Given the description of an element on the screen output the (x, y) to click on. 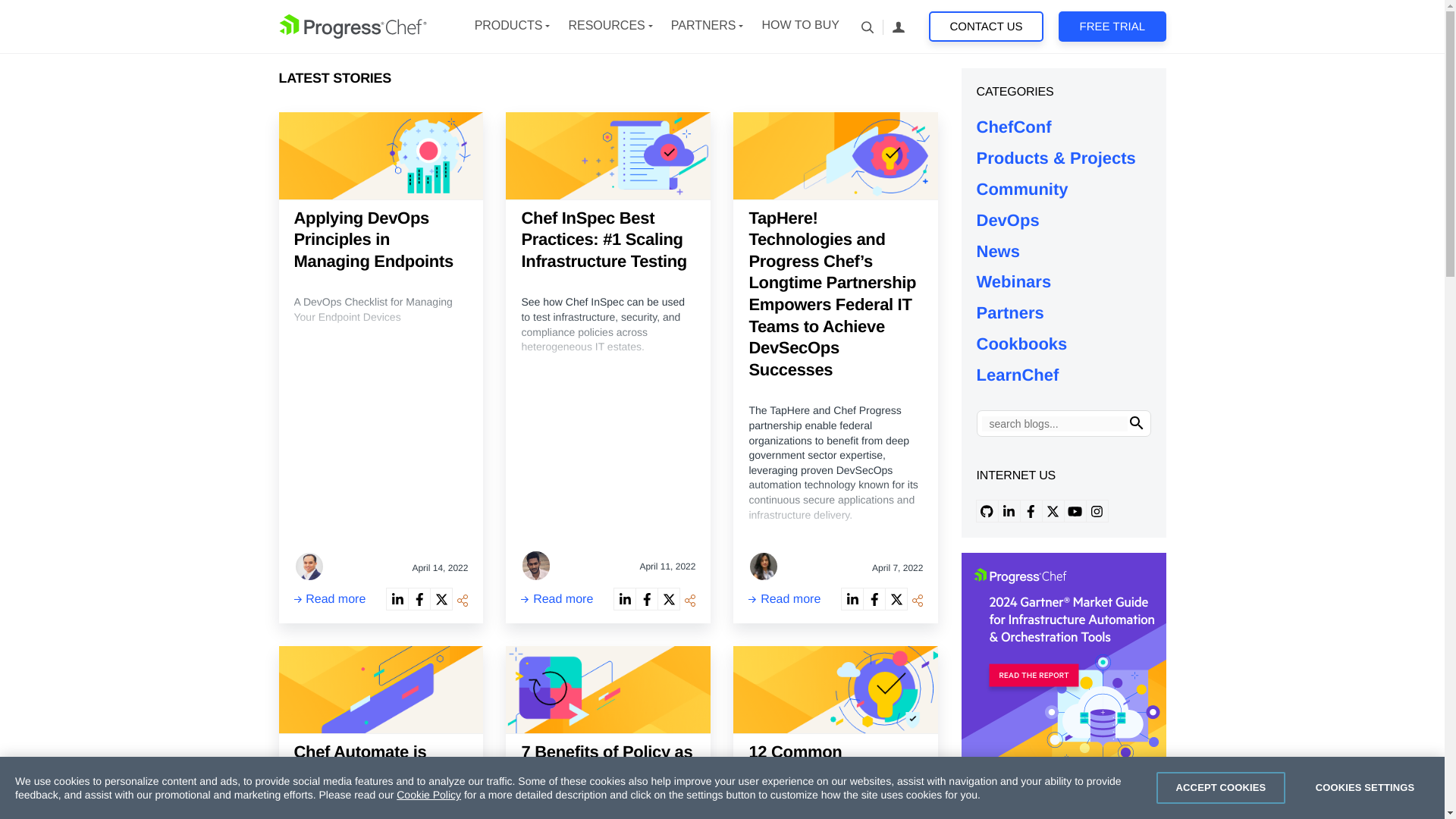
HOW TO BUY (799, 25)
PARTNERS (703, 25)
PRODUCTS (508, 25)
RESOURCES (606, 25)
SKIP NAVIGATION (352, 26)
CONTACT US (985, 26)
